Given the description of an element on the screen output the (x, y) to click on. 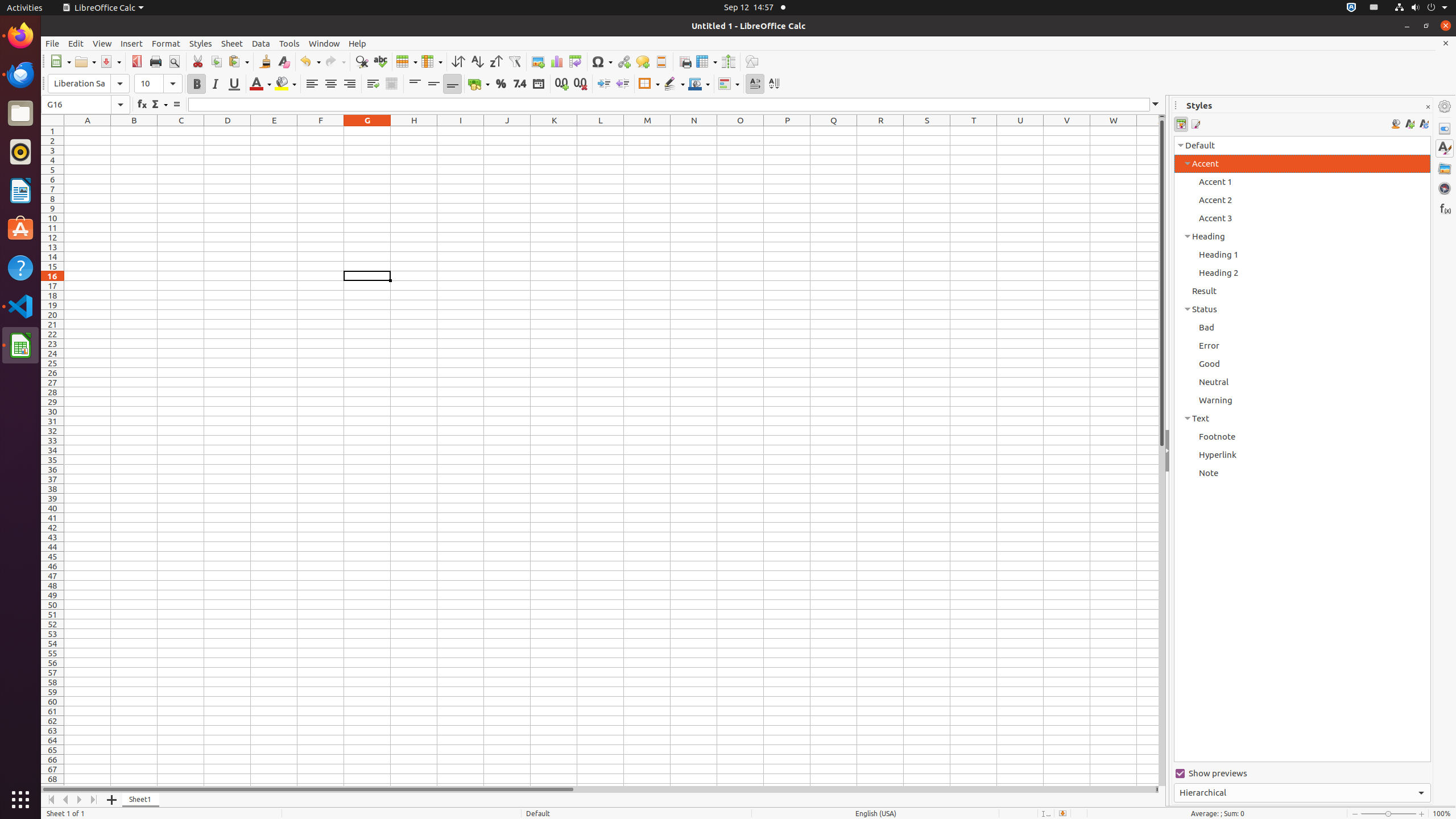
Print Area Element type: push-button (684, 61)
Sheet Element type: menu (231, 43)
Spelling Element type: push-button (379, 61)
T1 Element type: table-cell (973, 130)
Open Element type: push-button (84, 61)
